Given the description of an element on the screen output the (x, y) to click on. 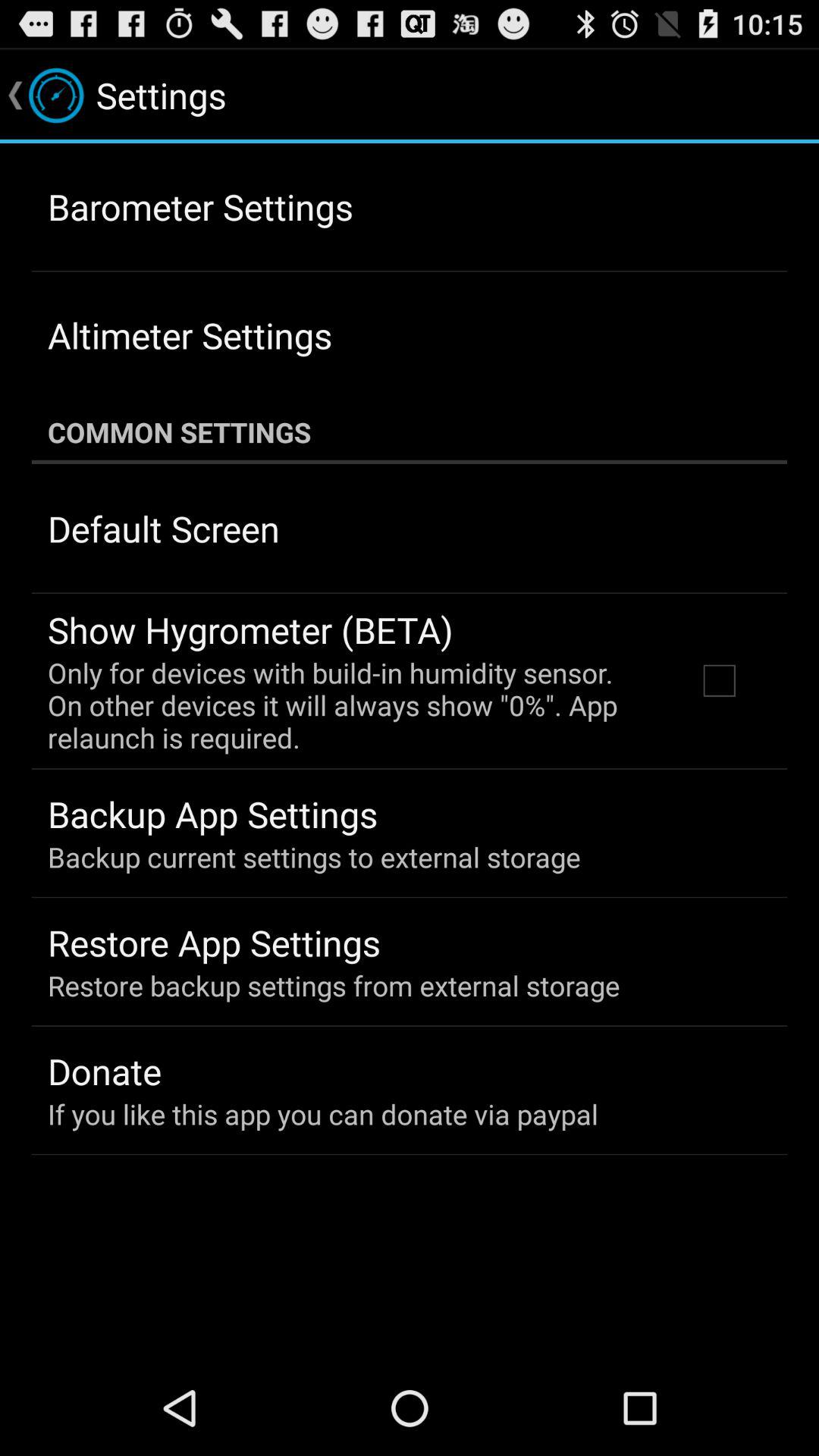
select item next to the only for devices (719, 680)
